Given the description of an element on the screen output the (x, y) to click on. 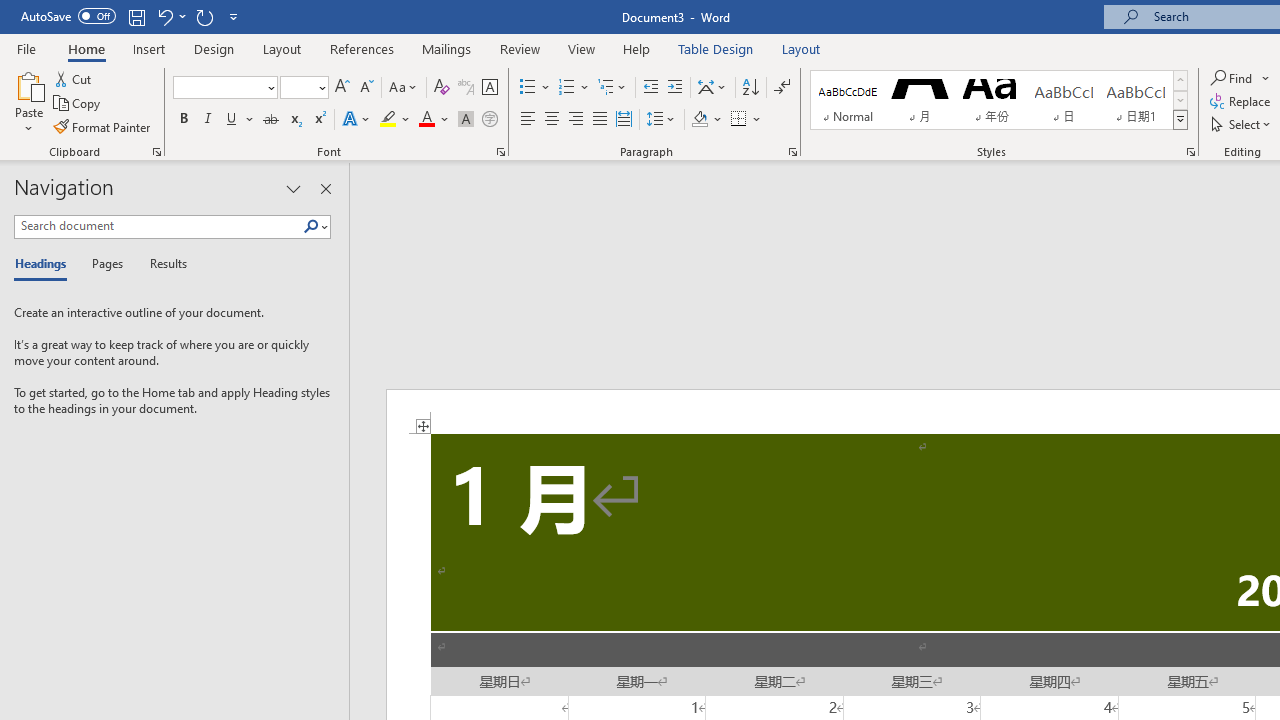
Headings (45, 264)
Styles... (1190, 151)
File Tab (26, 48)
Decrease Indent (650, 87)
Open (320, 87)
References (362, 48)
Format Painter (103, 126)
Italic (207, 119)
Enclose Characters... (489, 119)
Replace... (1242, 101)
